Given the description of an element on the screen output the (x, y) to click on. 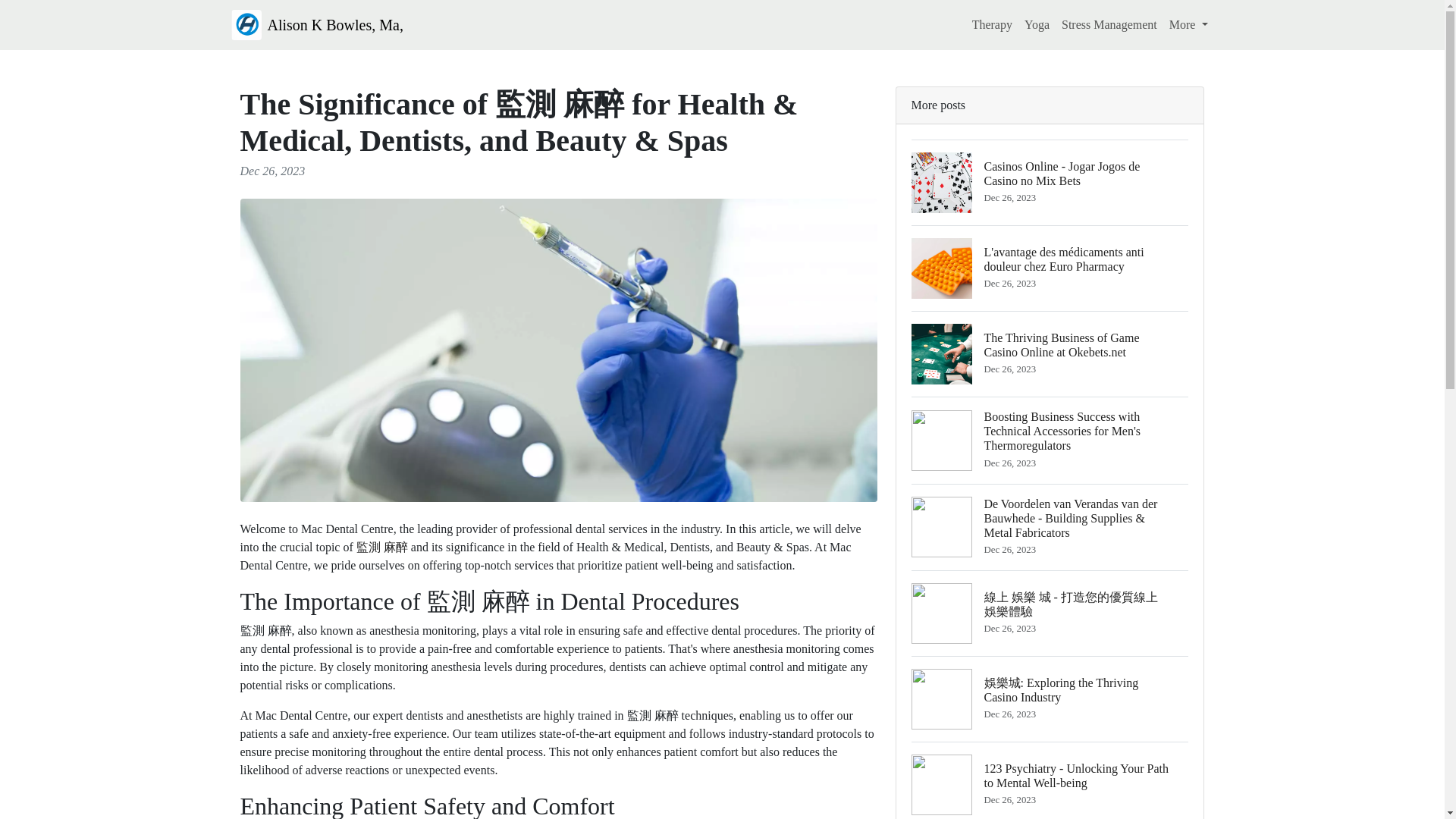
Stress Management (1109, 24)
Yoga (1036, 24)
Therapy (991, 24)
More (1188, 24)
Alison K Bowles, Ma, (316, 24)
